Given the description of an element on the screen output the (x, y) to click on. 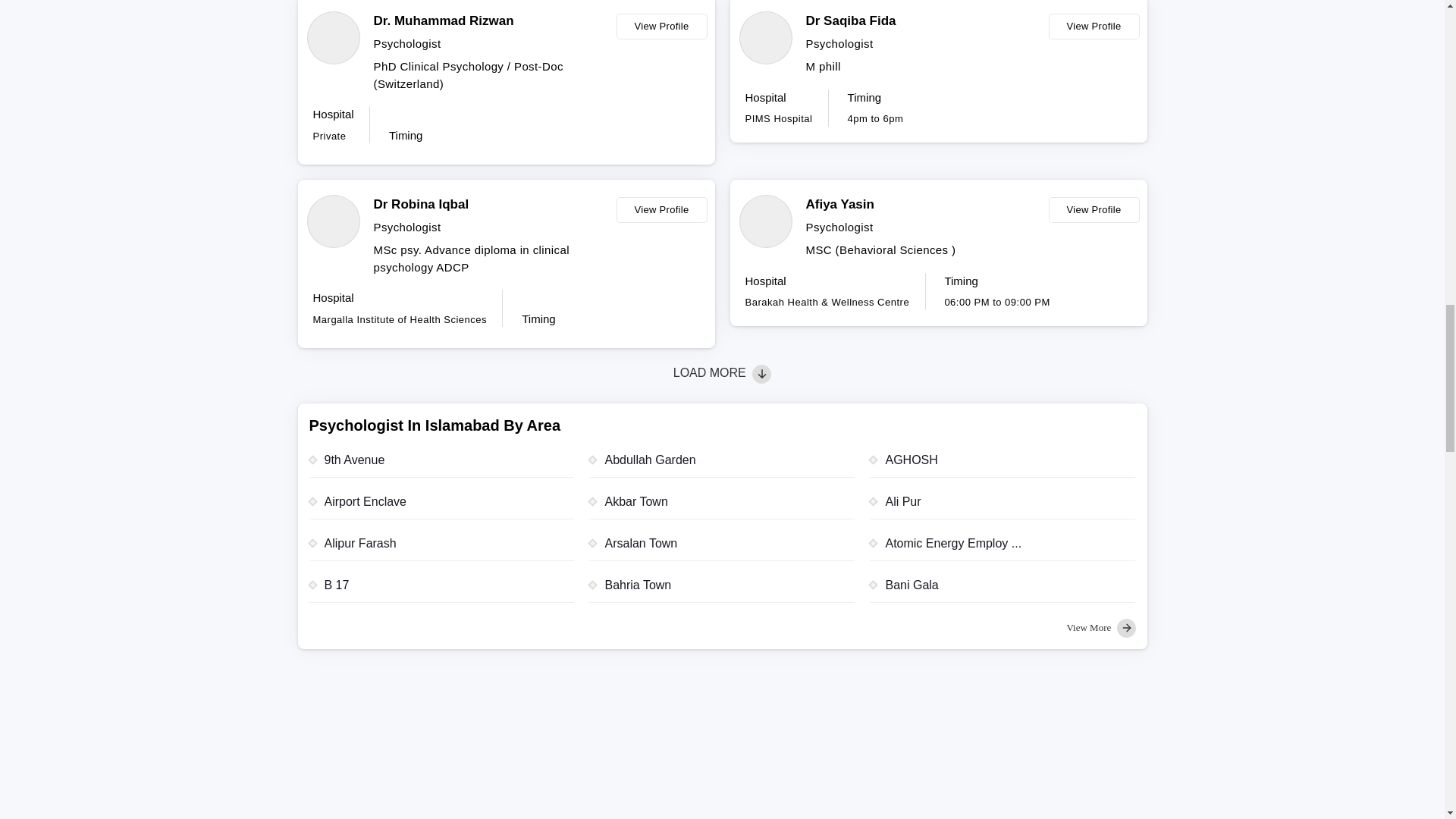
Airport Enclave (441, 506)
9th Avenue (441, 464)
B 17 (441, 589)
Atomic Energy Employee Society (1002, 547)
Bahria Town (721, 589)
Abdullah Garden (721, 464)
Arsalan Town (721, 547)
AGHOSH (1002, 464)
Ali Pur (1002, 506)
Bani Gala (1002, 589)
Akbar Town (721, 506)
Alipur Farash (441, 547)
